Given the description of an element on the screen output the (x, y) to click on. 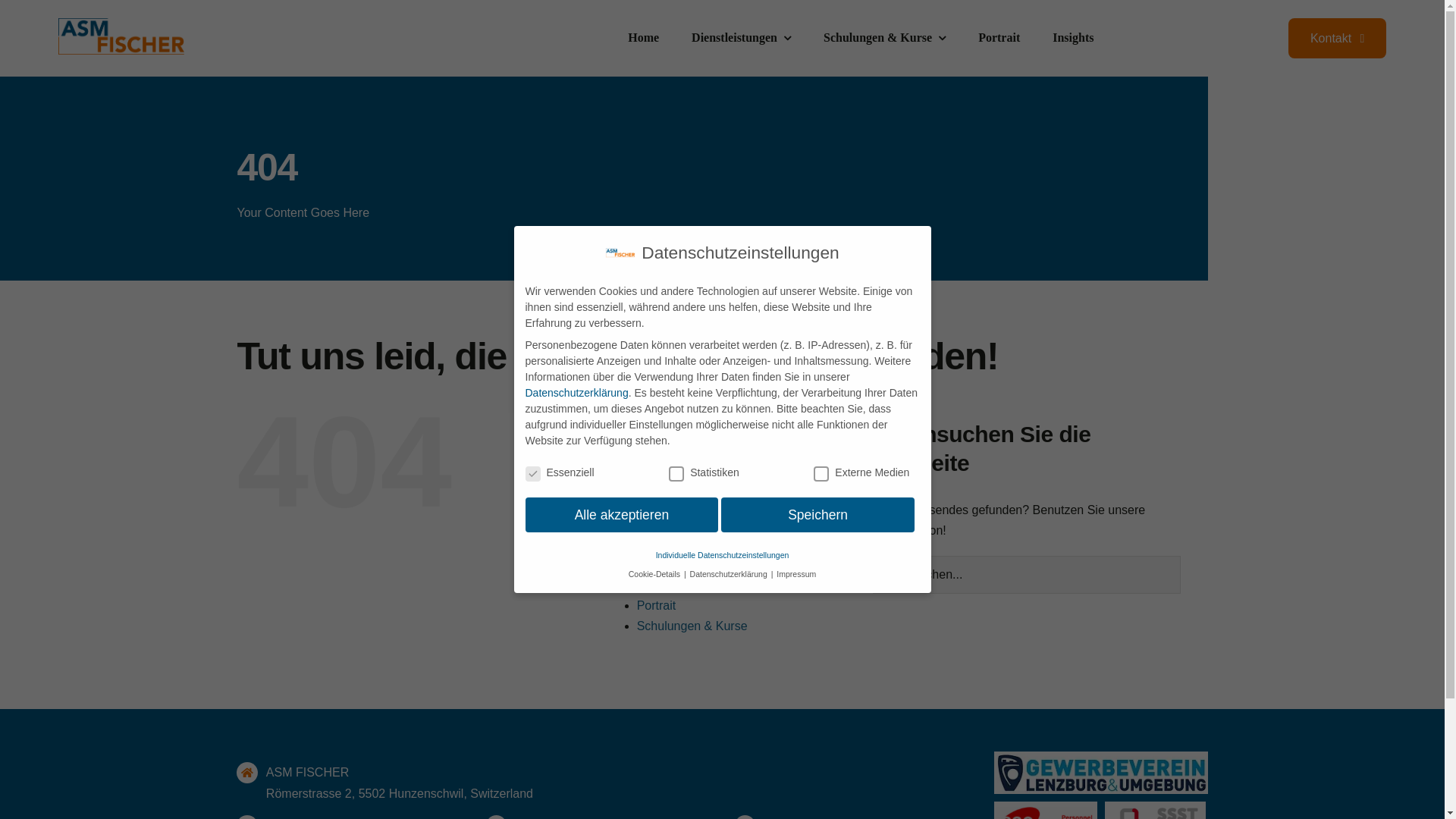
Impressum Element type: text (666, 542)
Insights Element type: text (1072, 38)
Alle akzeptieren Element type: text (621, 514)
Individuelle Datenschutzeinstellungen Element type: text (722, 554)
Schulungen & Kurse Element type: text (884, 38)
Insights Element type: text (657, 563)
Dienstleistungen Element type: text (681, 501)
Home Element type: text (643, 38)
Dienstleistungen Element type: text (740, 38)
Home Element type: text (653, 522)
Schulungen & Kurse Element type: text (692, 625)
Portrait Element type: text (998, 38)
Cookie-Details Element type: text (655, 573)
Impressum Element type: text (795, 573)
Kontakt Element type: text (1337, 38)
Speichern Element type: text (817, 514)
Portrait Element type: text (656, 605)
Kontakt Element type: text (657, 583)
